Given the description of an element on the screen output the (x, y) to click on. 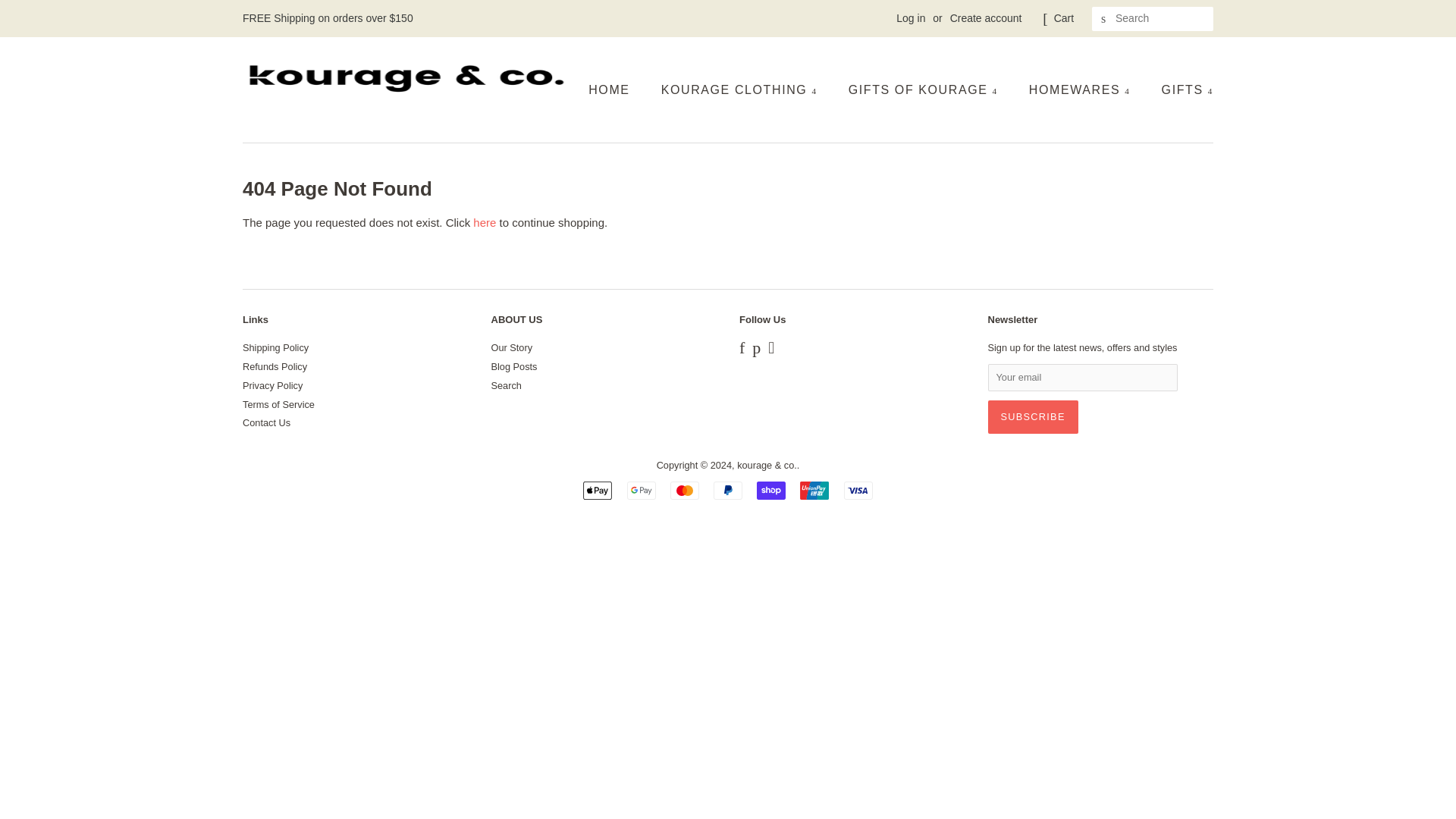
Union Pay (813, 490)
Shop Pay (771, 490)
Create account (986, 18)
PayPal (727, 490)
Log in (910, 18)
Visa (858, 490)
Google Pay (641, 490)
Mastercard (683, 490)
SEARCH (1104, 18)
Cart (1064, 18)
Subscribe (1032, 417)
Apple Pay (597, 490)
